Given the description of an element on the screen output the (x, y) to click on. 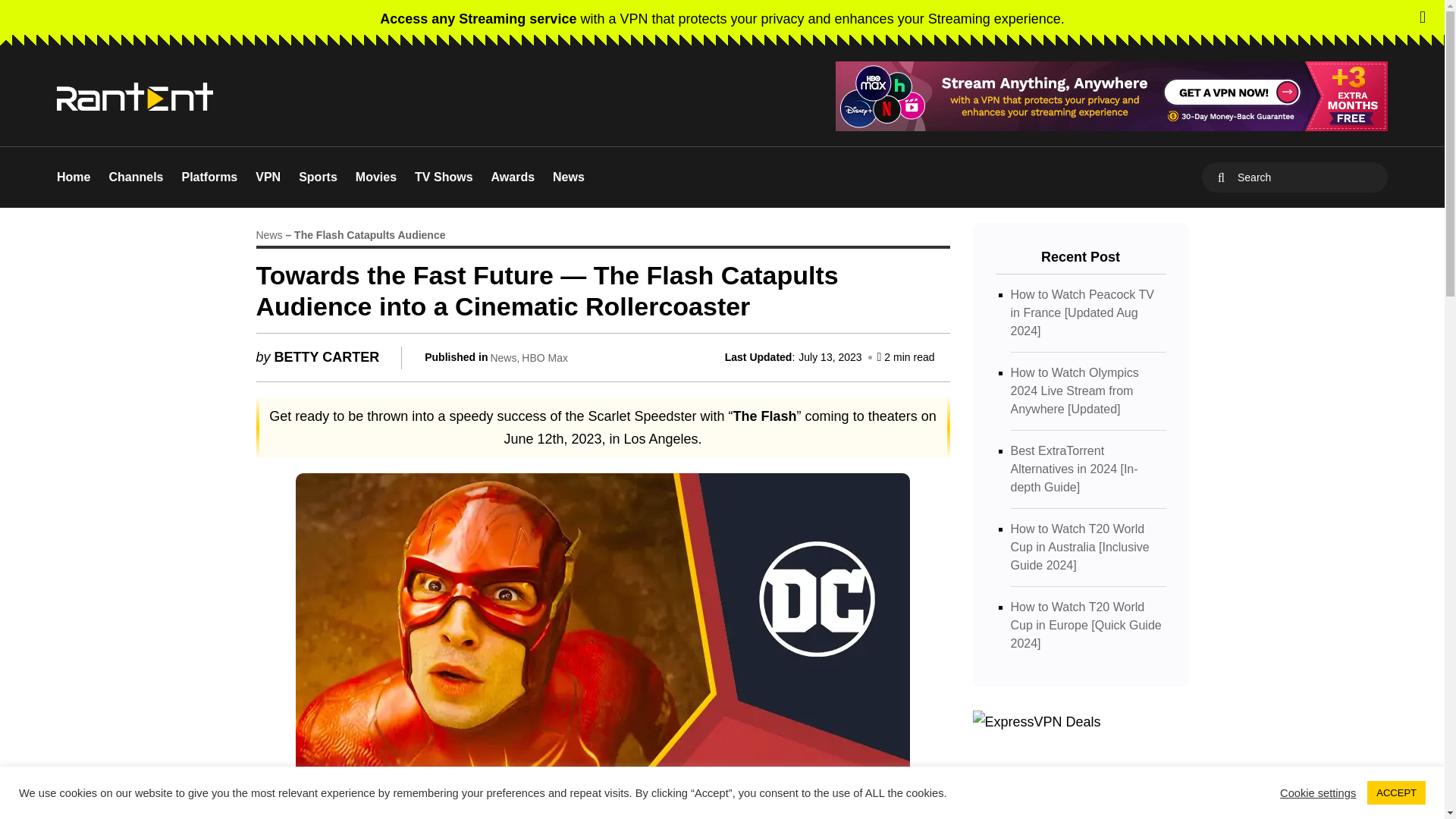
ExpressVPN Exclusive Deal (722, 18)
Platforms (208, 177)
ExpressVPN Exclusive Deal (1111, 96)
TV Shows (442, 177)
ExpressVPN Exclusive Deal (1111, 95)
Channels (135, 177)
ExpressVPN Deals (1036, 721)
